Given the description of an element on the screen output the (x, y) to click on. 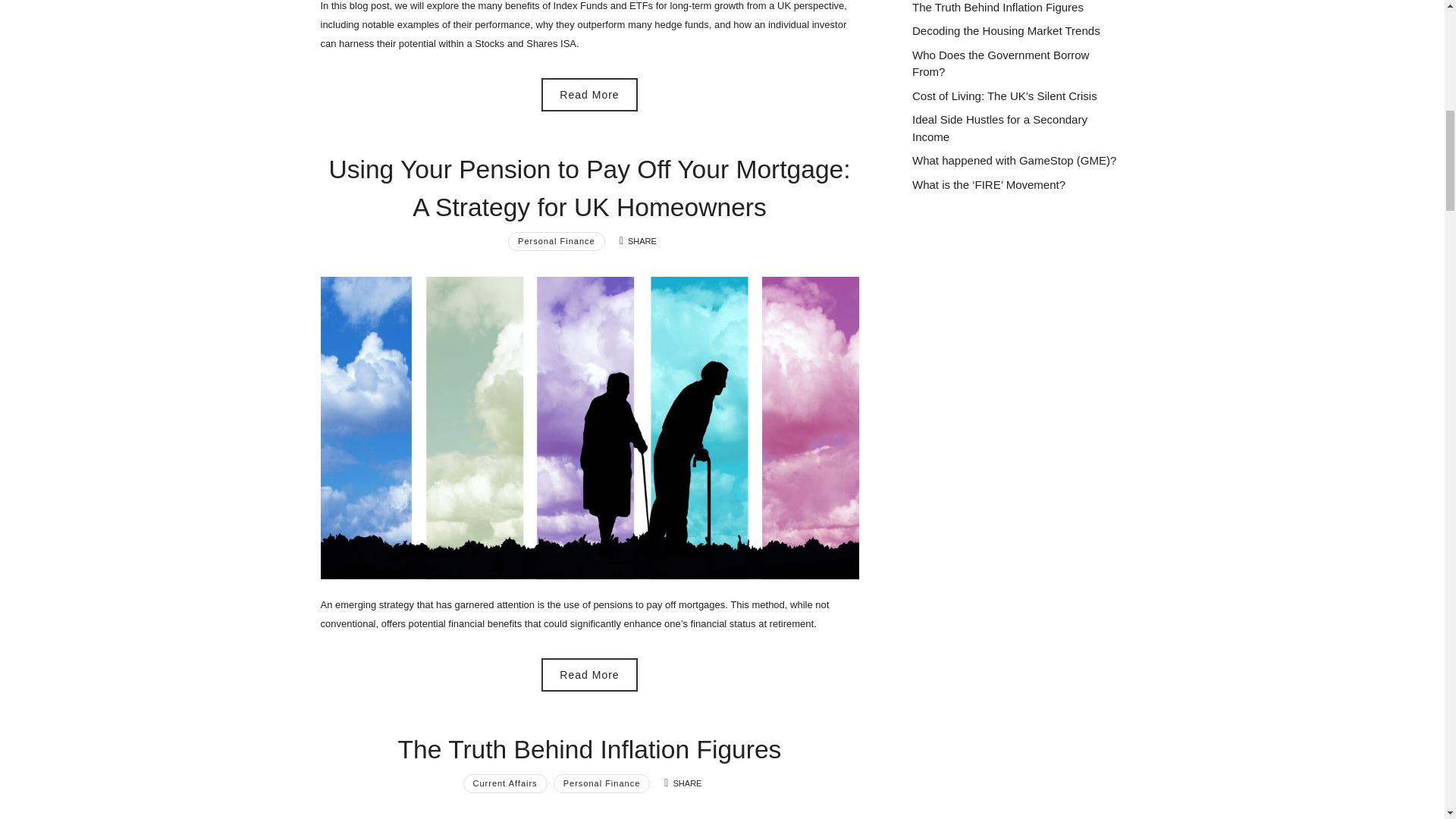
Current Affairs (505, 783)
Personal Finance (556, 240)
Read More (589, 94)
The Truth Behind Inflation Figures (589, 749)
Read More (589, 674)
Personal Finance (601, 783)
